Given the description of an element on the screen output the (x, y) to click on. 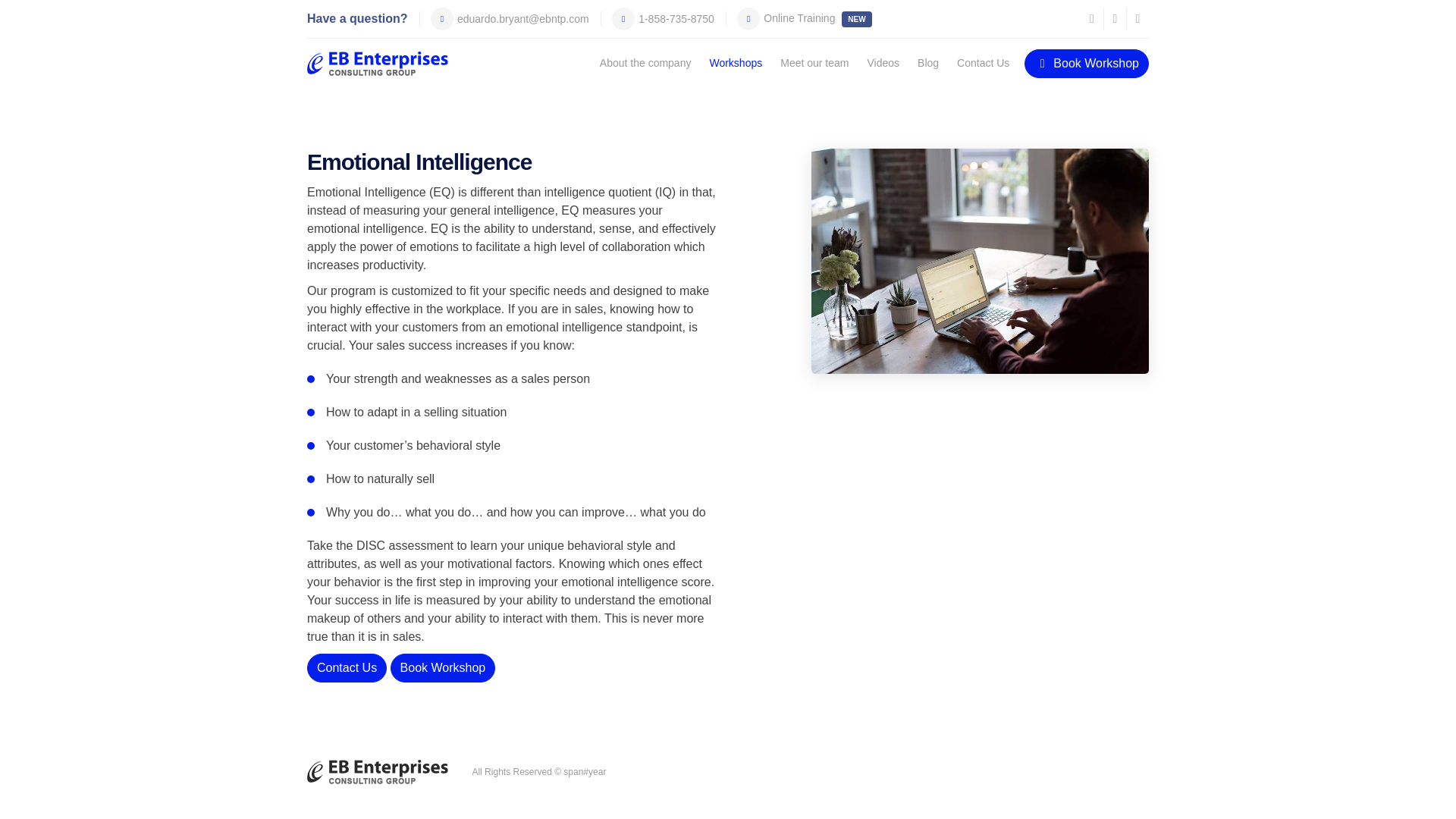
Book Workshop (1086, 62)
About the company (645, 62)
Contact Us (347, 667)
Videos (883, 62)
Online Training NEW (797, 18)
Meet our team (814, 62)
Book Workshop (443, 667)
Blog (927, 62)
Workshops (735, 62)
Contact Us (982, 62)
